Given the description of an element on the screen output the (x, y) to click on. 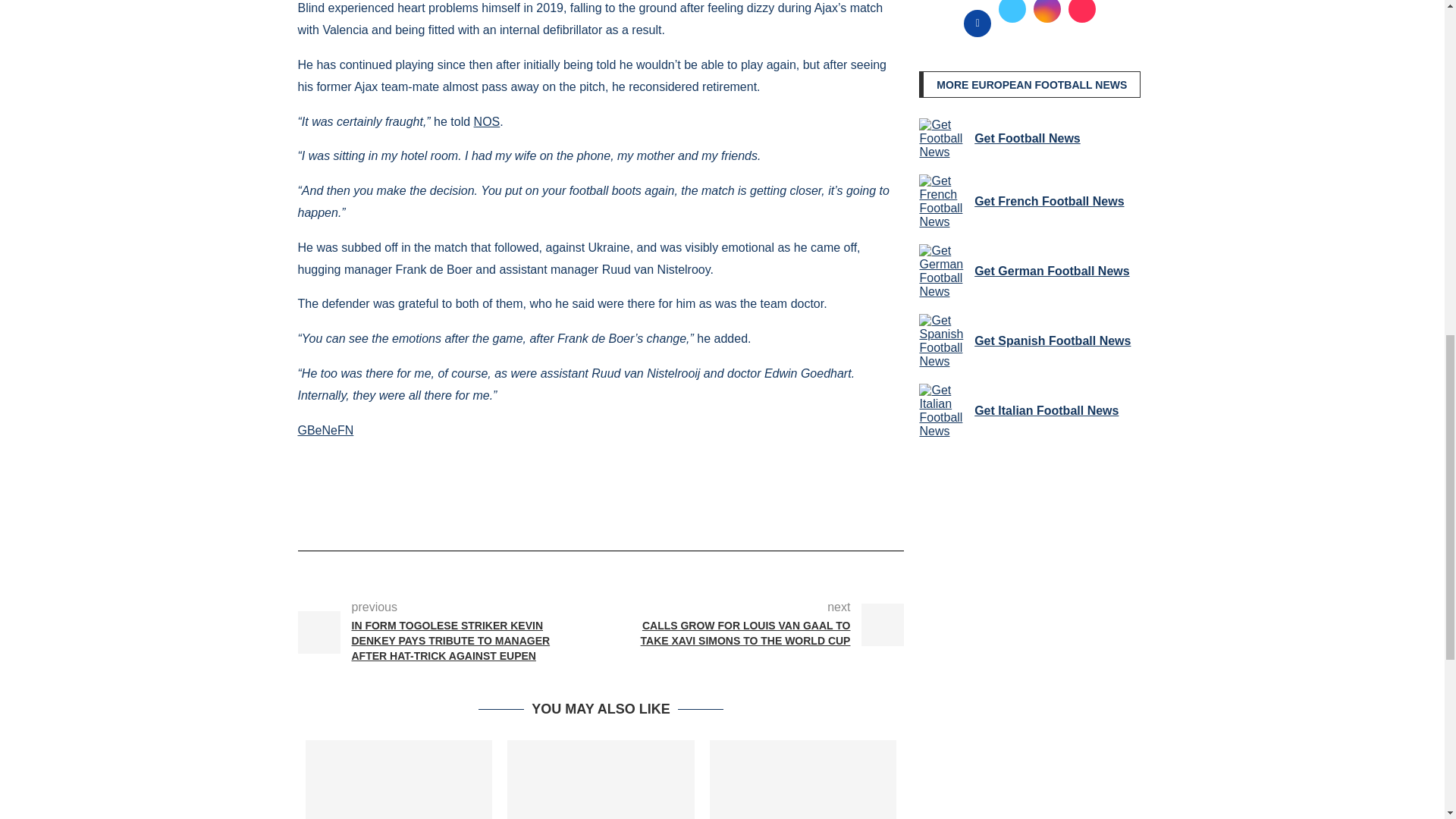
Get Italian Football News (943, 411)
Get French Football News (943, 201)
Get Football News (943, 137)
Get Spanish Football News (943, 340)
Get German Football News (943, 271)
